Given the description of an element on the screen output the (x, y) to click on. 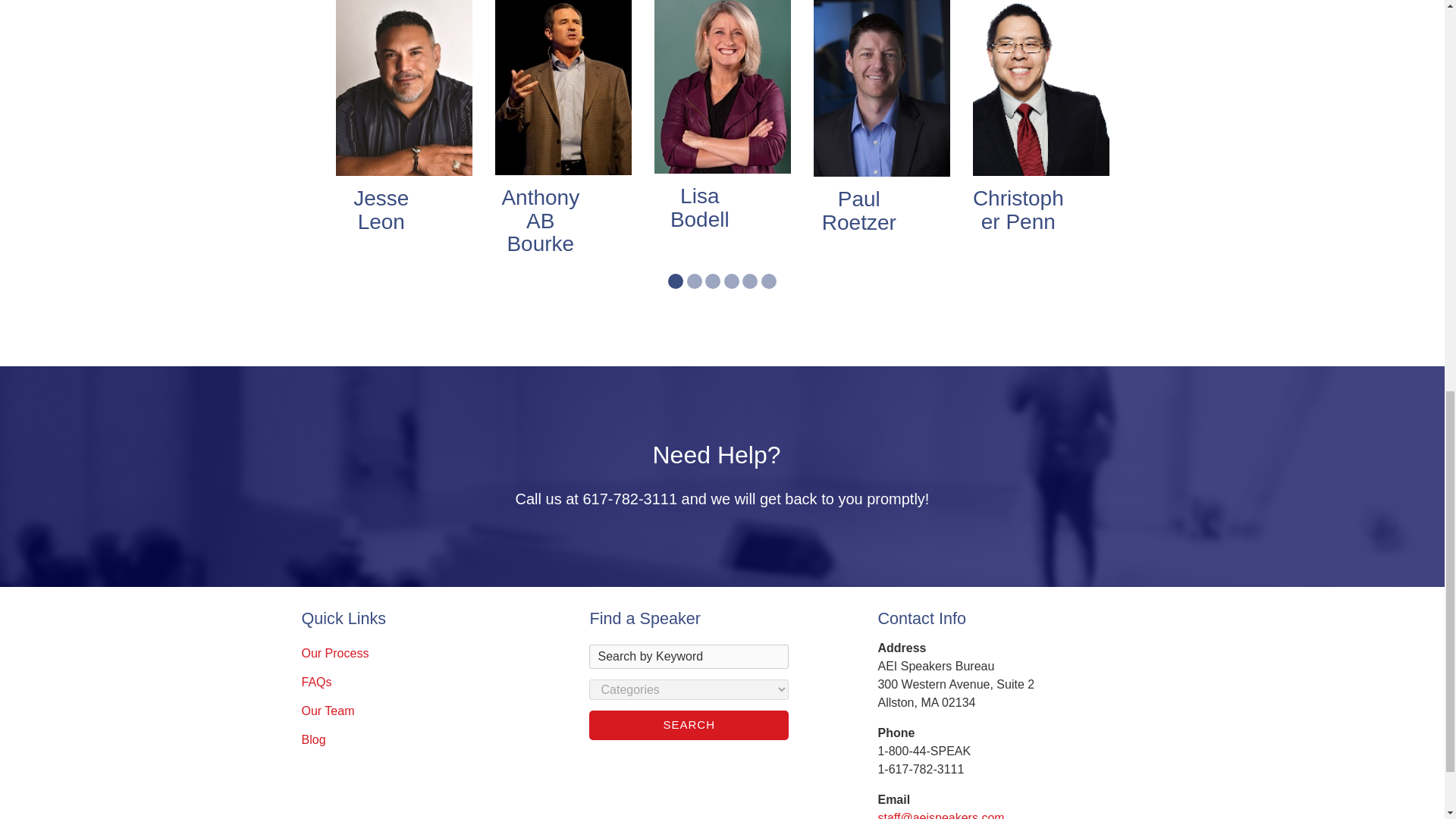
Jesse Leon (380, 210)
SEARCH (688, 725)
Anthony AB Bourke (540, 221)
